Given the description of an element on the screen output the (x, y) to click on. 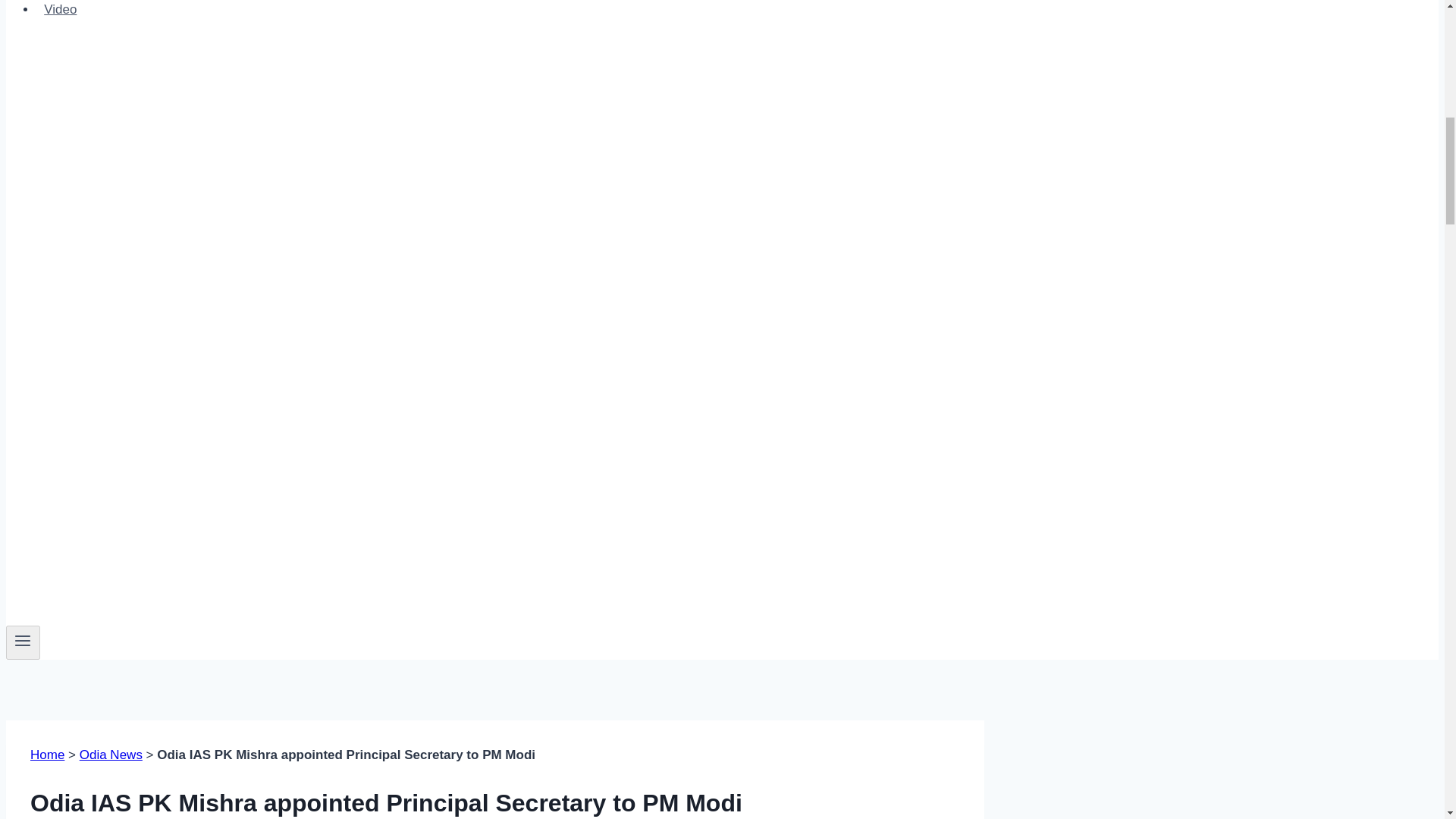
Toggle Menu (22, 640)
Odia News (111, 754)
Toggle Menu (22, 642)
Photos (63, 2)
Video (60, 12)
Home (47, 754)
